Given the description of an element on the screen output the (x, y) to click on. 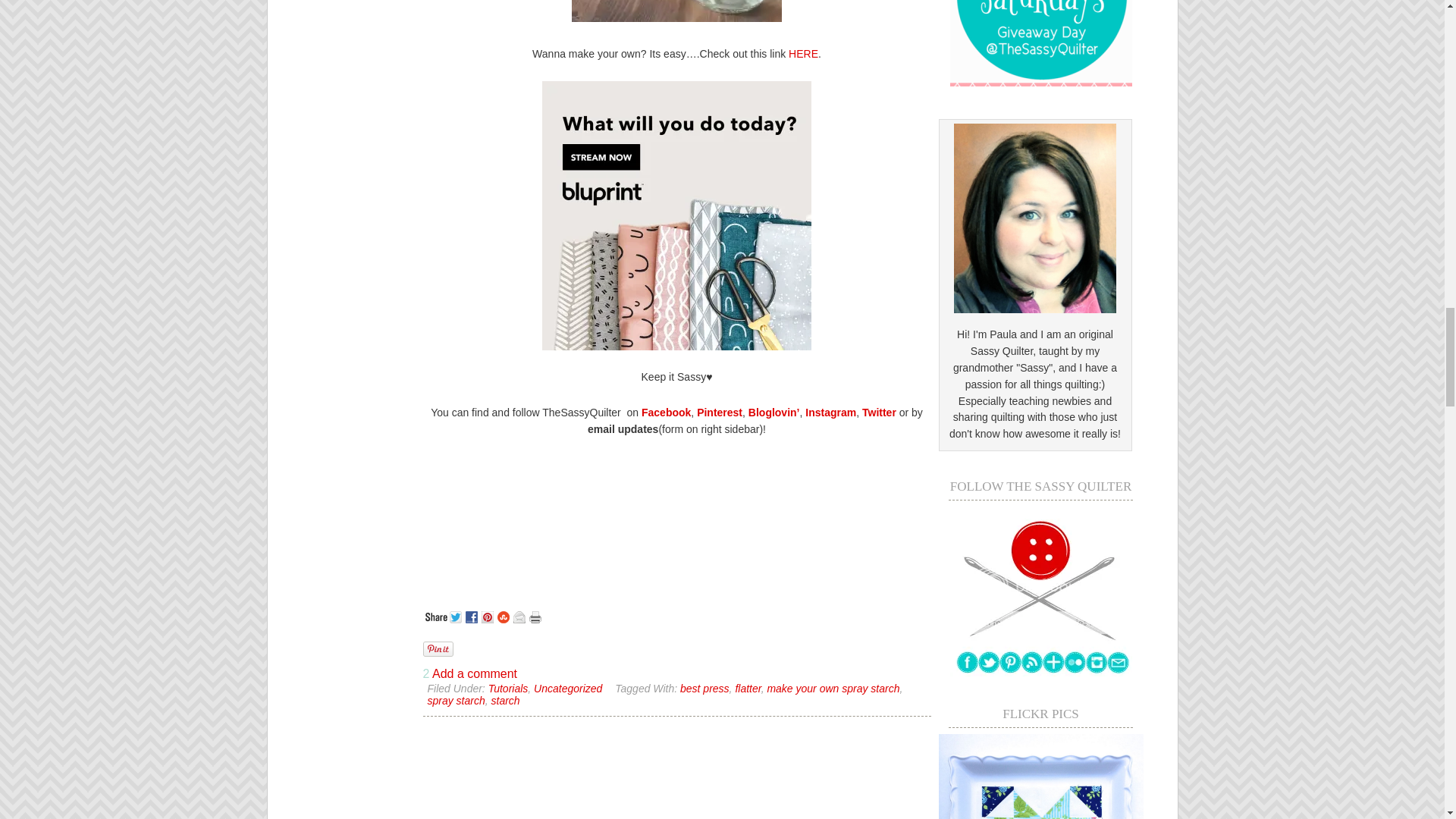
Facebook (473, 614)
StumbleUpon (505, 614)
Pin It (437, 648)
Pinterest (488, 614)
Email (520, 614)
Twitter (456, 614)
Print (536, 614)
